Given the description of an element on the screen output the (x, y) to click on. 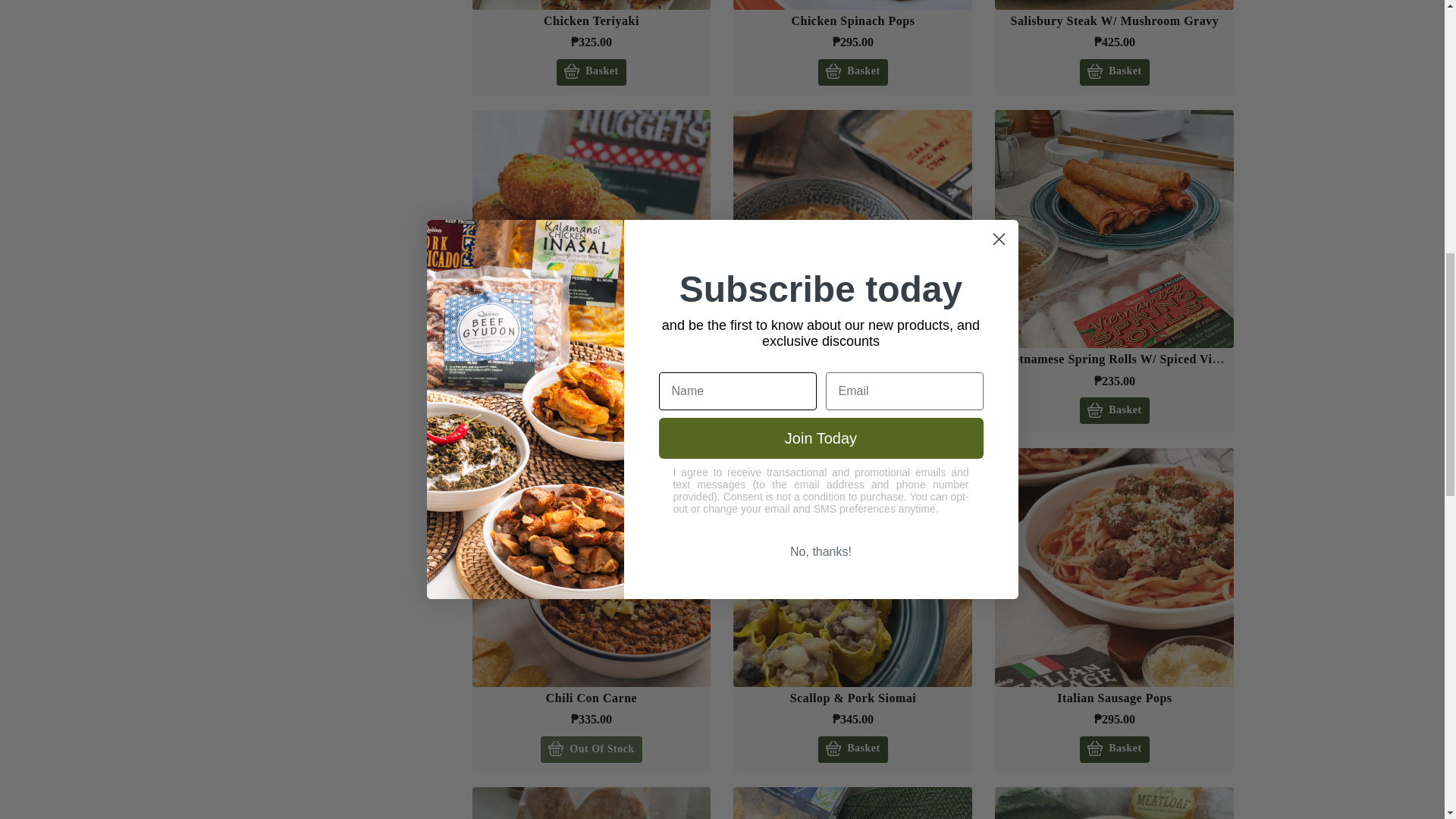
Add to cart (852, 749)
Add to cart (591, 71)
Add to cart (1114, 749)
Sold Out (591, 749)
Add to cart (852, 71)
Add to cart (1114, 71)
Add to cart (591, 410)
Add to cart (1114, 410)
Add to cart (852, 410)
